Given the description of an element on the screen output the (x, y) to click on. 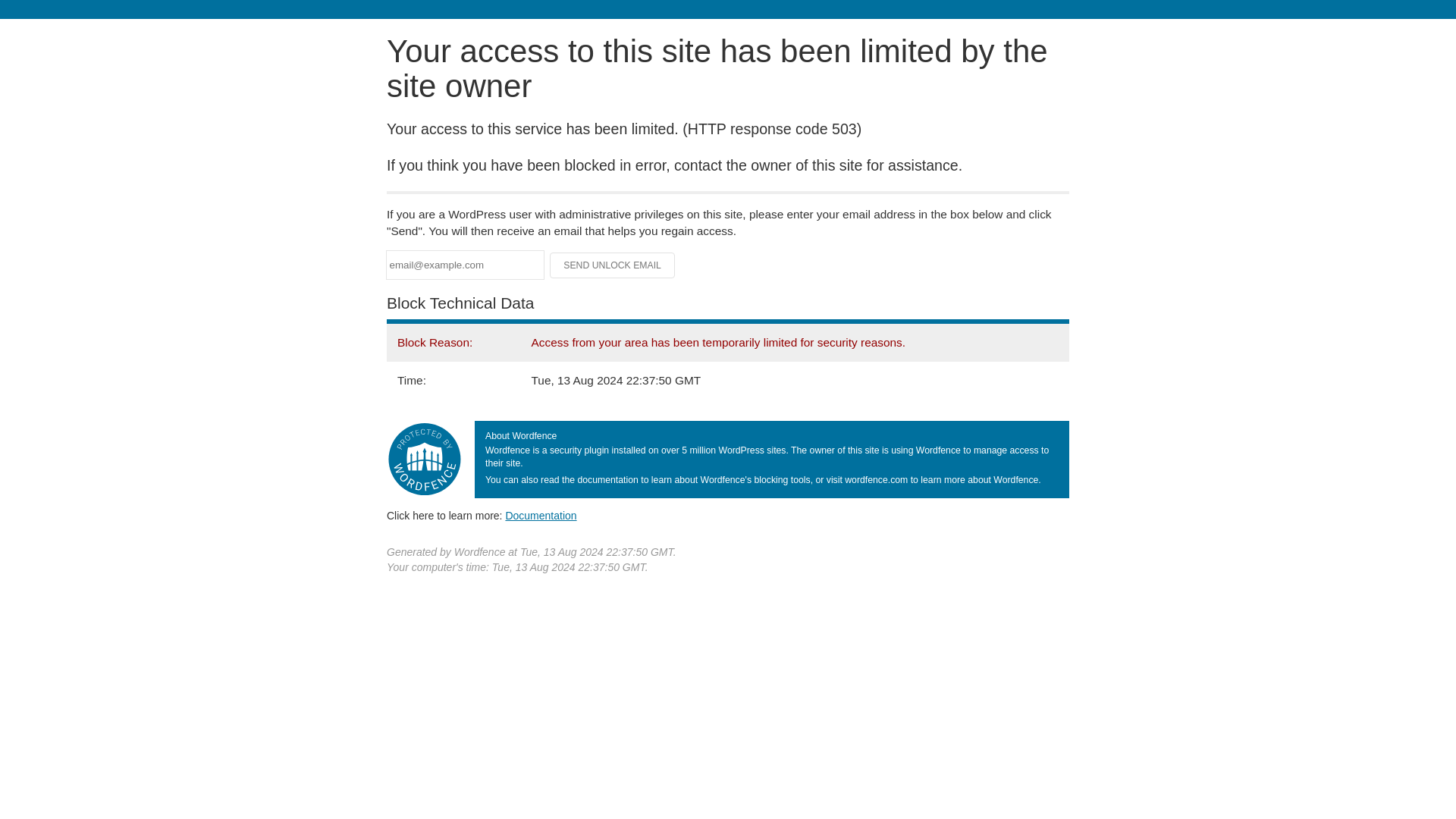
Send Unlock Email (612, 265)
Send Unlock Email (612, 265)
Documentation (540, 515)
